Given the description of an element on the screen output the (x, y) to click on. 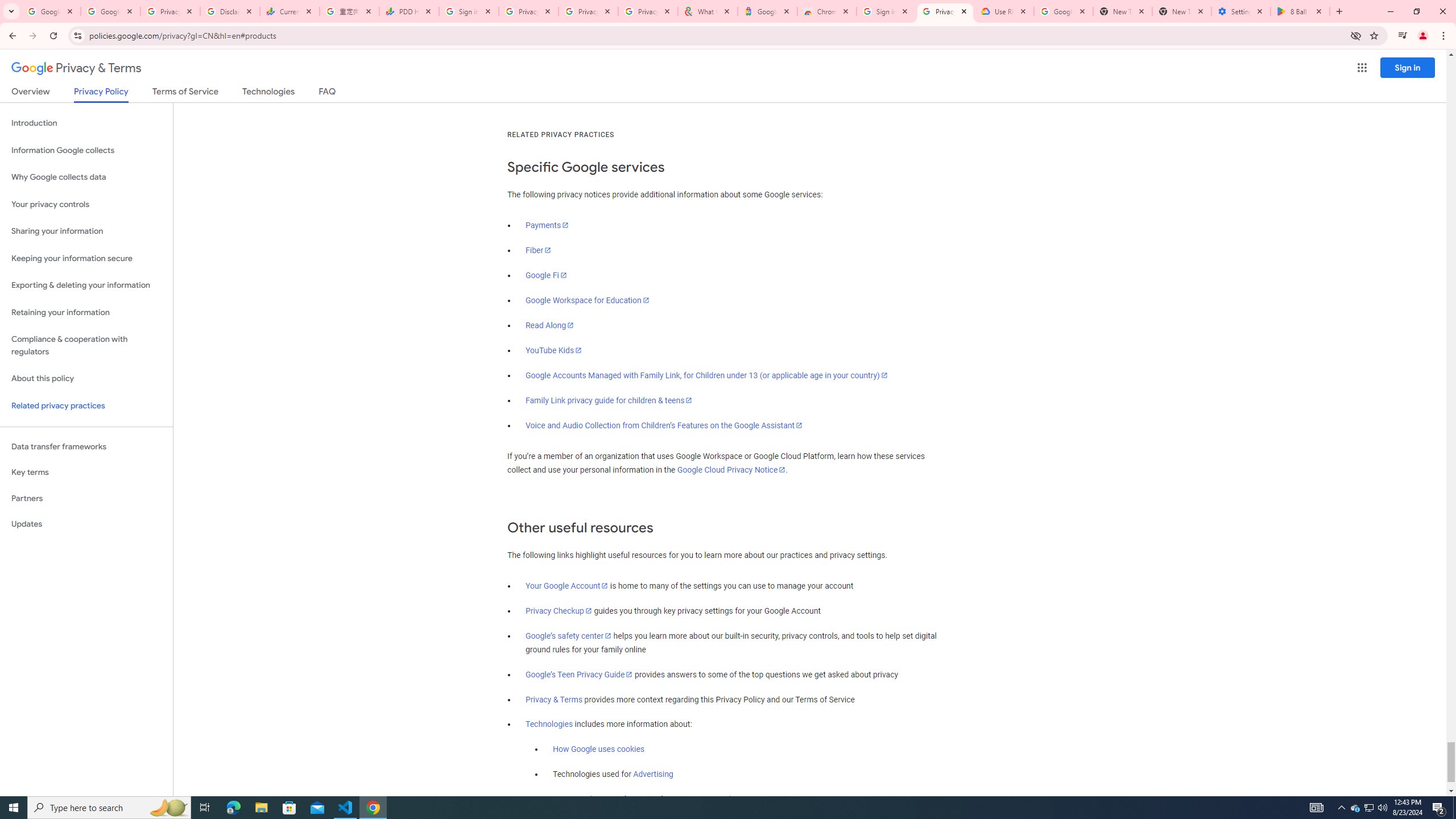
Google Workspace Admin Community (50, 11)
Sign in - Google Accounts (885, 11)
Privacy Checkup (588, 11)
